Given the description of an element on the screen output the (x, y) to click on. 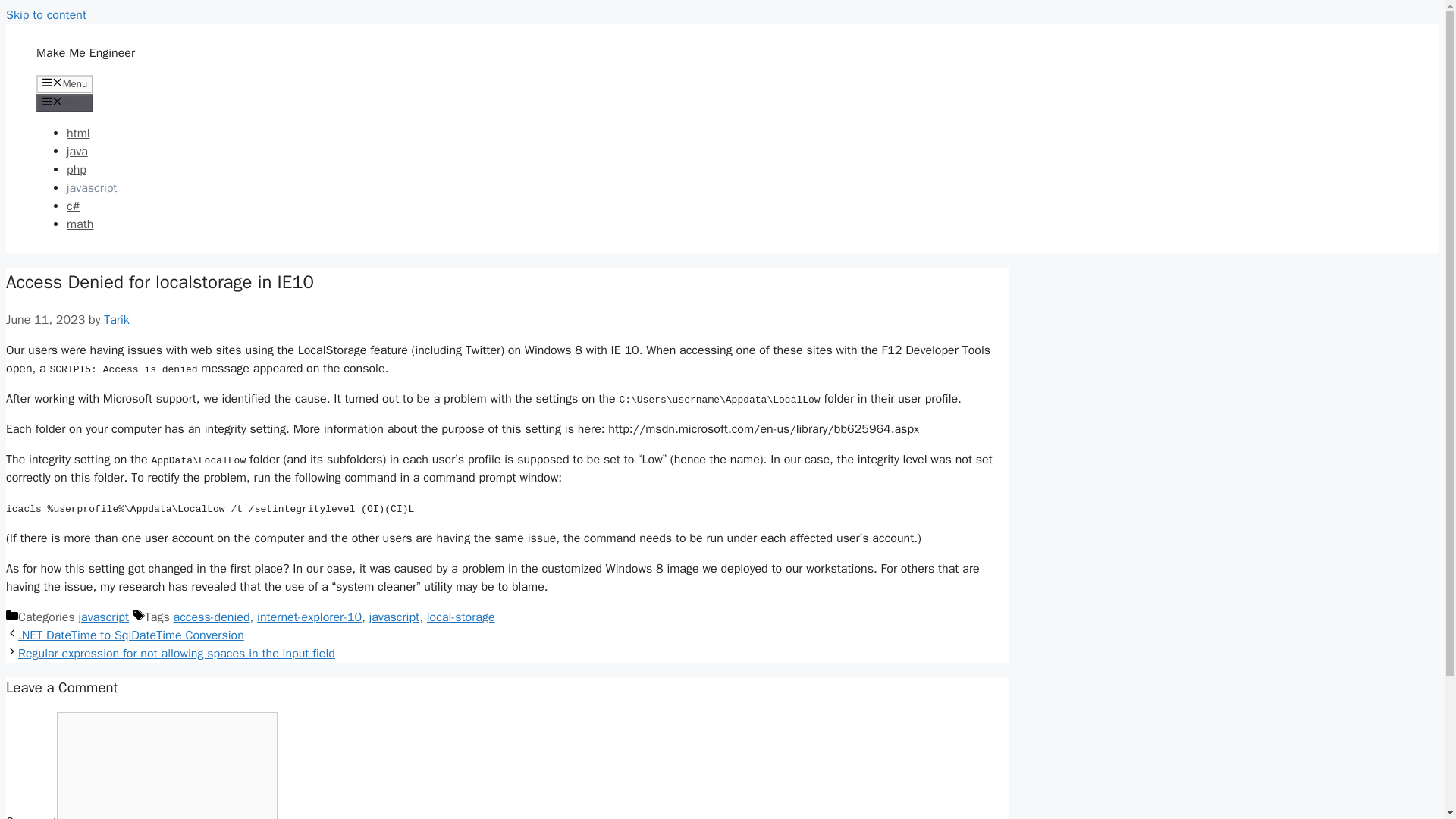
javascript (103, 616)
Menu (64, 84)
Skip to content (45, 14)
internet-explorer-10 (309, 616)
access-denied (211, 616)
php (75, 169)
math (79, 224)
Menu (64, 103)
local-storage (460, 616)
Tarik (116, 319)
View all posts by Tarik (116, 319)
javascript (91, 187)
java (76, 151)
Skip to content (45, 14)
html (78, 133)
